Given the description of an element on the screen output the (x, y) to click on. 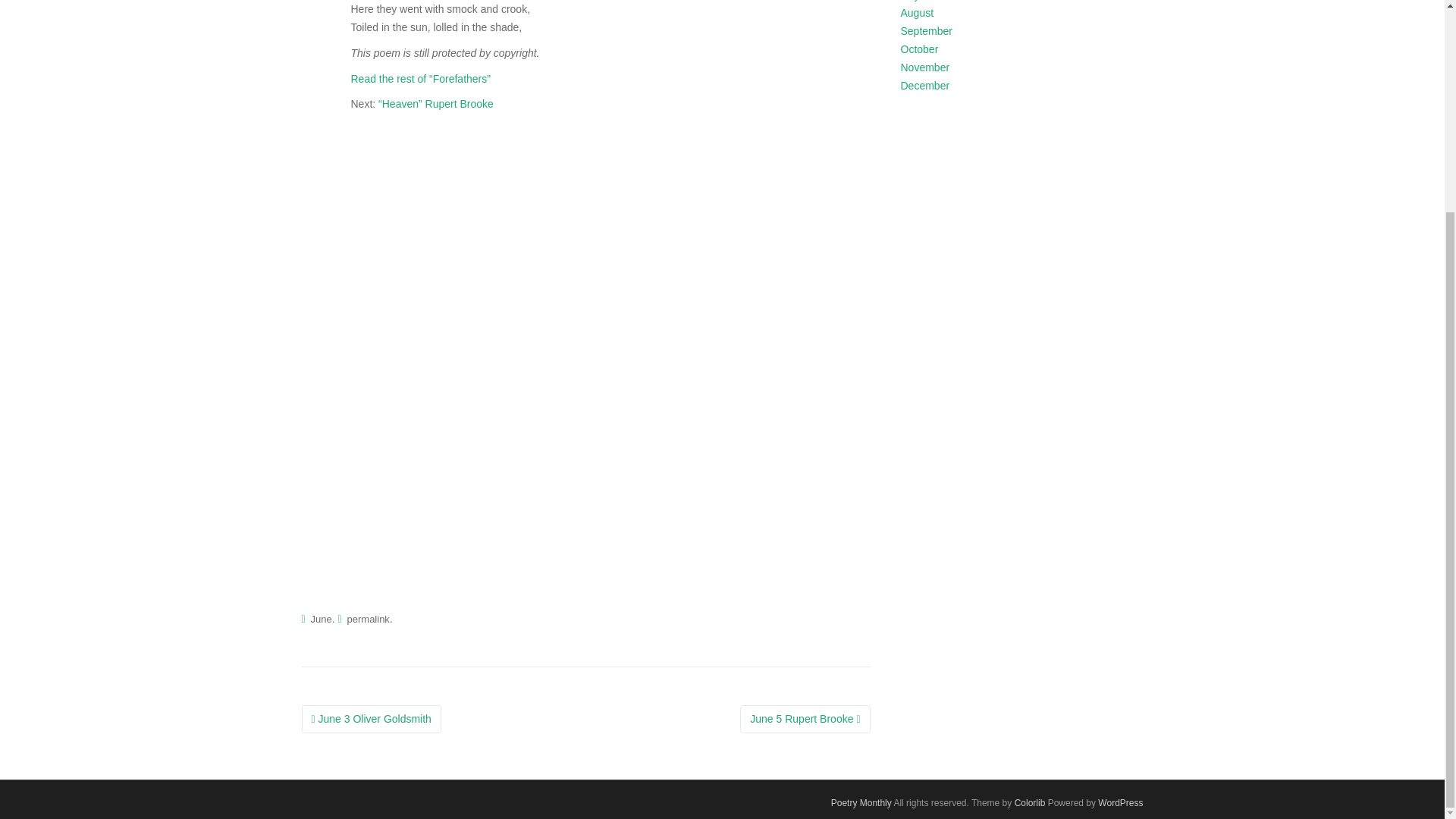
August (917, 12)
Poetry Monthly (861, 802)
September (926, 30)
Colorlib (1029, 802)
June 5 Rupert Brooke (804, 719)
Poetry Monthly (861, 802)
December (925, 85)
June (321, 618)
November (925, 67)
